Given the description of an element on the screen output the (x, y) to click on. 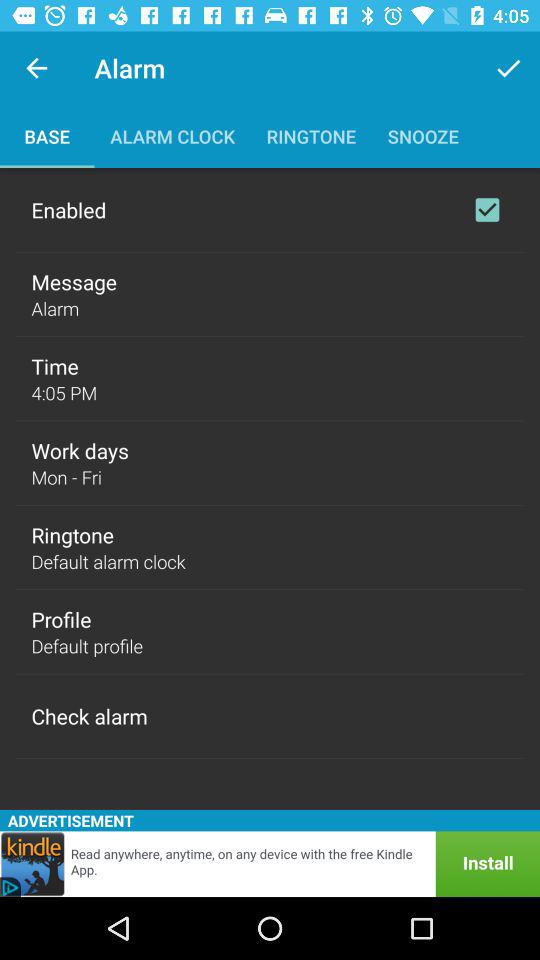
view advertisement landing page (270, 864)
